Given the description of an element on the screen output the (x, y) to click on. 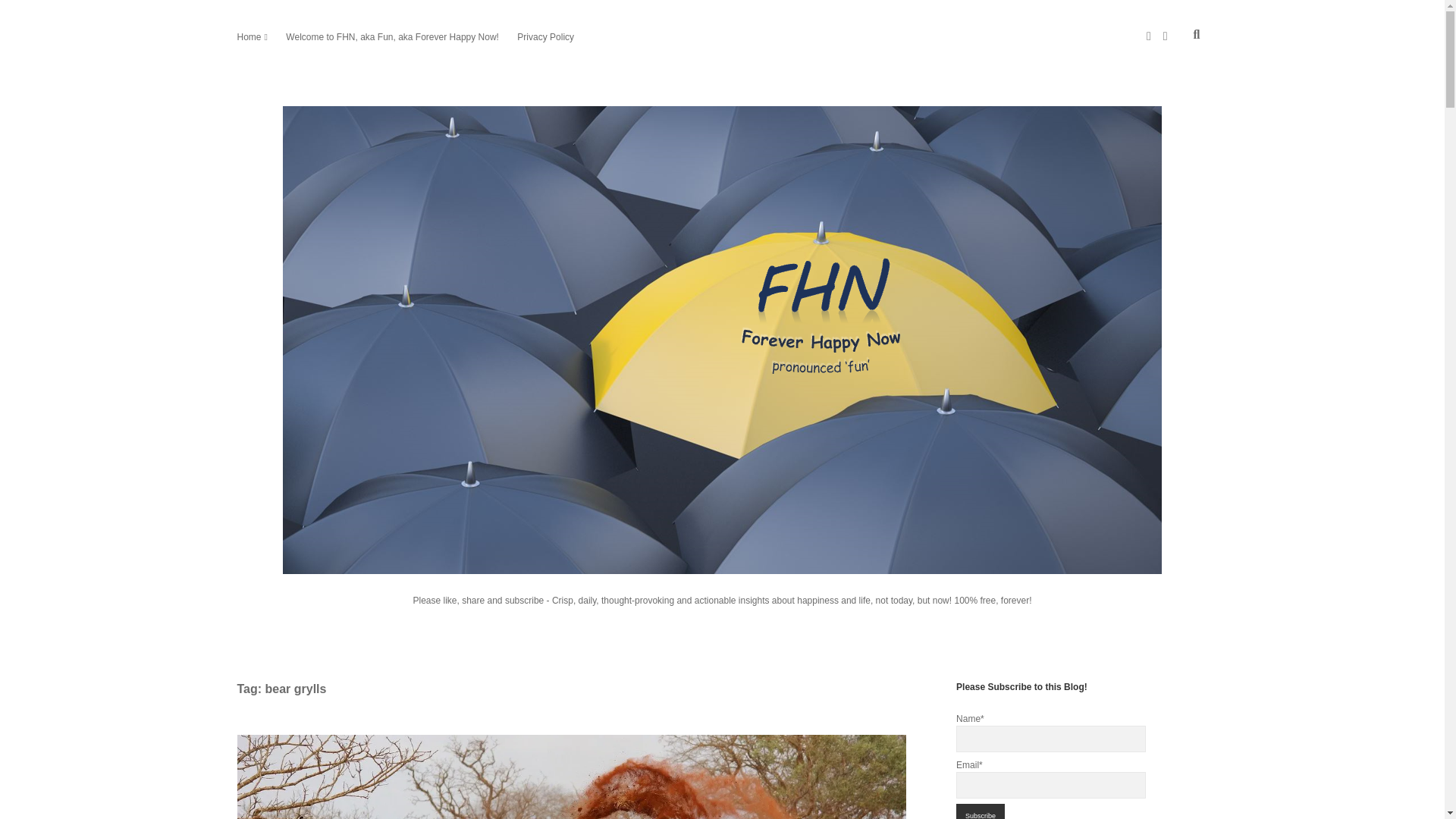
Welcome to FHN, aka Fun, aka Forever Happy Now! (392, 37)
Subscribe (980, 811)
Home (247, 37)
Kid vs Wild (570, 776)
Privacy Policy (544, 37)
Forever Happy Now! (721, 560)
Subscribe (980, 811)
